Given the description of an element on the screen output the (x, y) to click on. 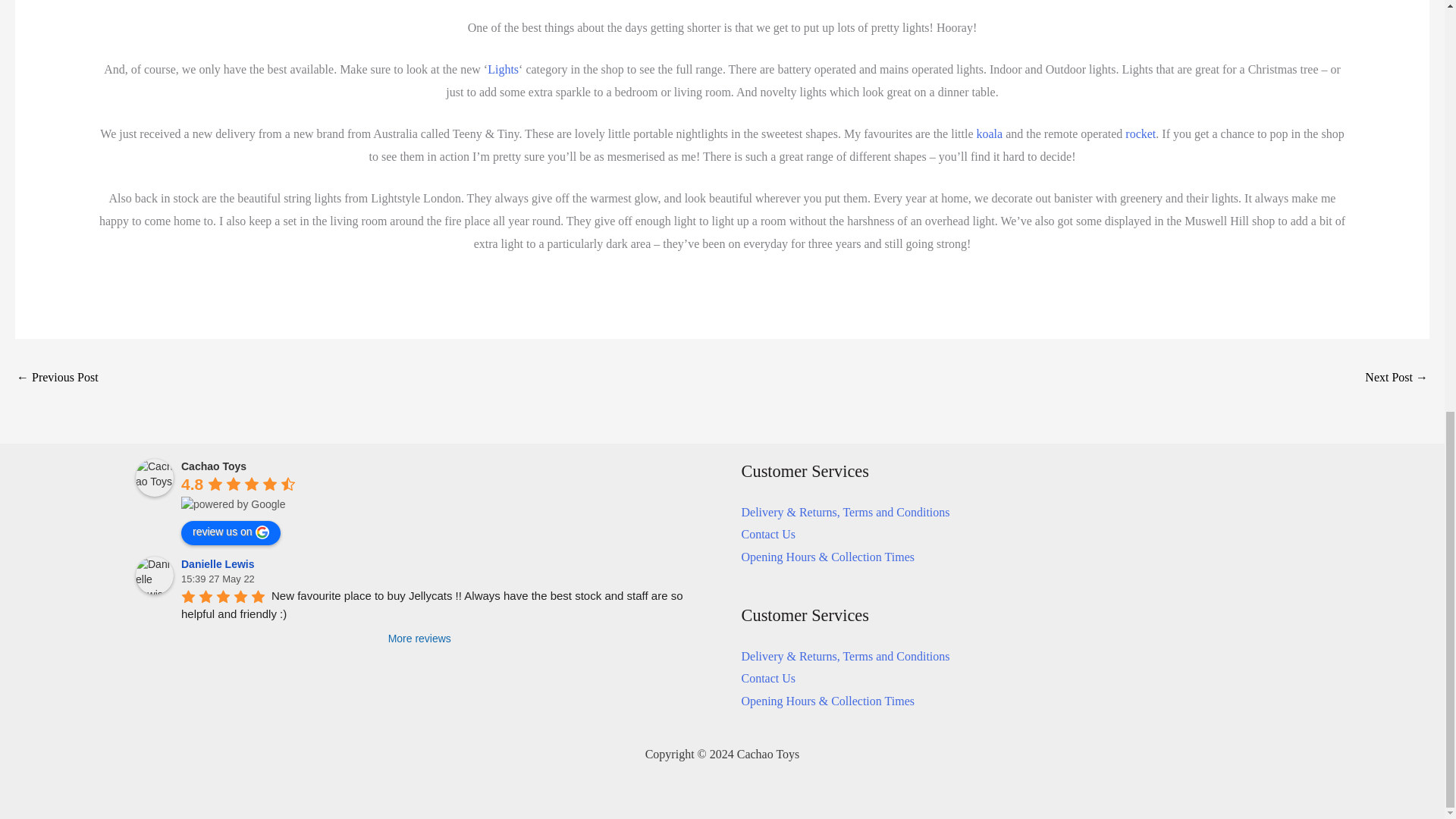
Danielle Lewis (154, 575)
Cachao Toys (154, 477)
rocket (1140, 133)
New Arrivals In Store Now! (57, 378)
Bye Bye Primrose Hill (1396, 378)
Lights (502, 69)
koala (989, 133)
powered by Google (232, 503)
